Given the description of an element on the screen output the (x, y) to click on. 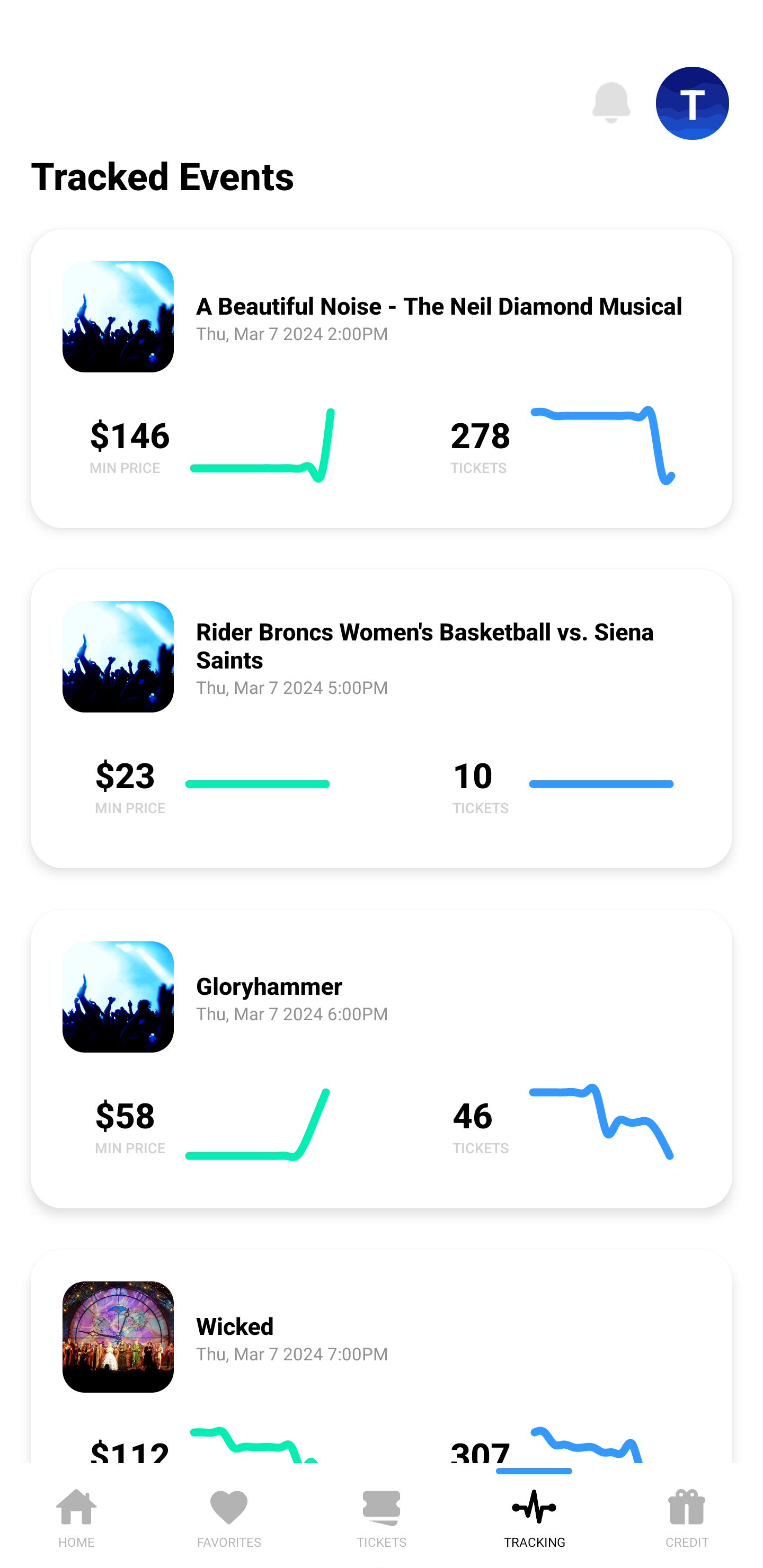
T (692, 103)
HOME (76, 1515)
FAVORITES (228, 1515)
TICKETS (381, 1515)
TRACKING (533, 1515)
CREDIT (686, 1515)
